Given the description of an element on the screen output the (x, y) to click on. 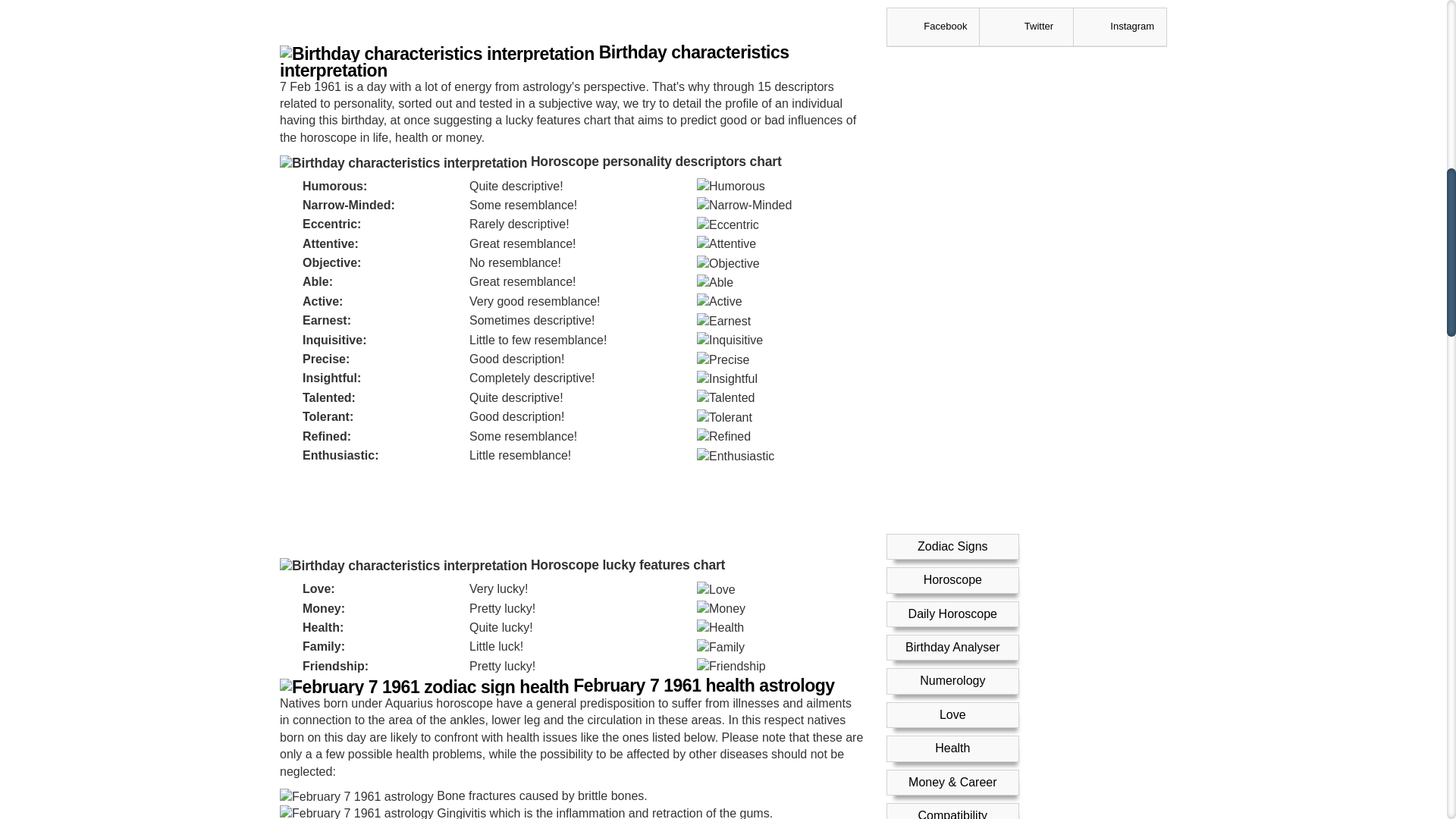
4 Elements (952, 141)
Compatibility (952, 40)
Astrology (952, 73)
Chinese Western (952, 174)
Birthdays (952, 107)
Quotes (952, 208)
Contact (952, 276)
Blog (952, 241)
